Given the description of an element on the screen output the (x, y) to click on. 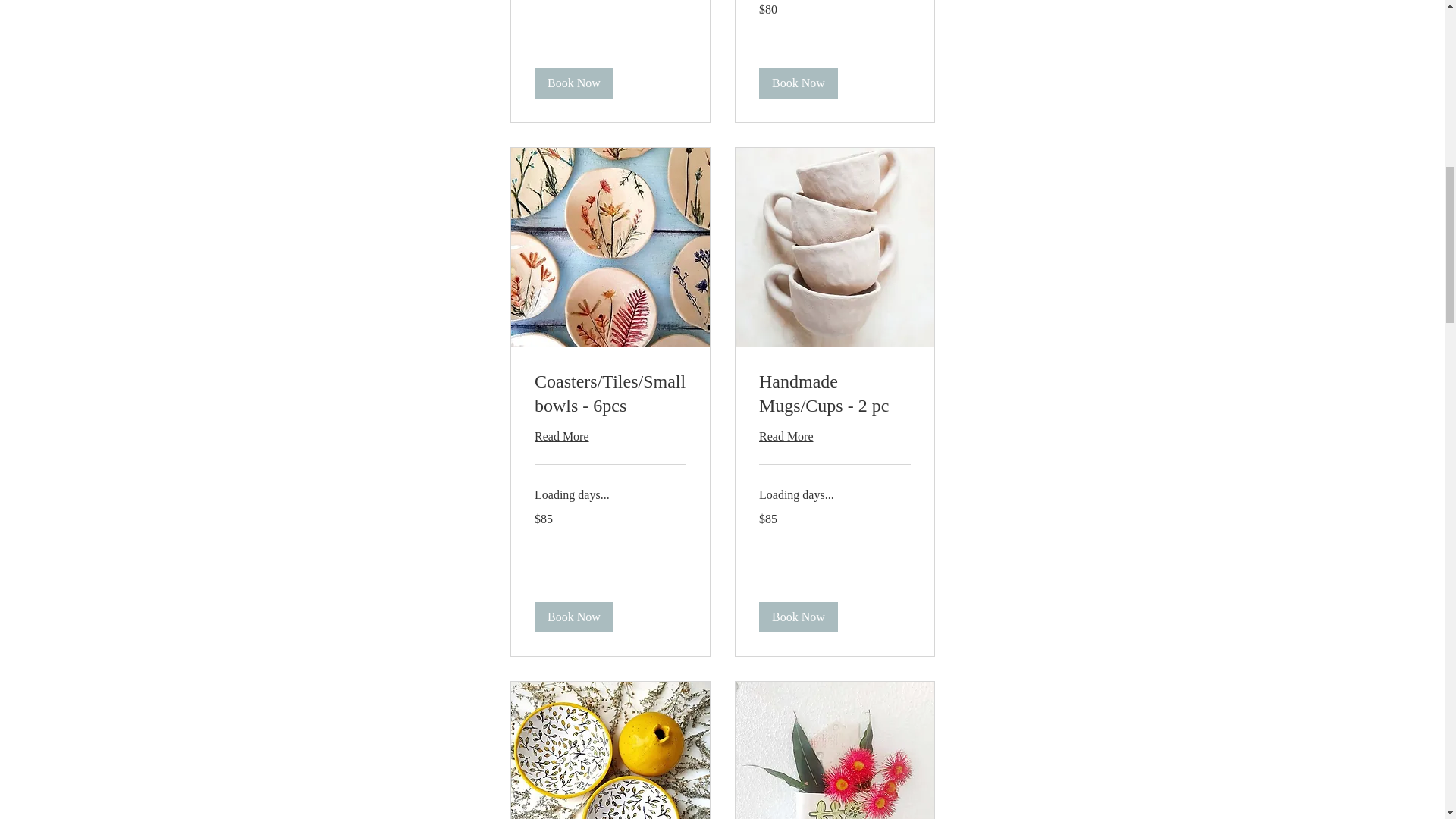
Book Now (797, 82)
Book Now (573, 616)
Book Now (797, 616)
Book Now (573, 82)
Read More (609, 435)
Read More (834, 435)
